Given the description of an element on the screen output the (x, y) to click on. 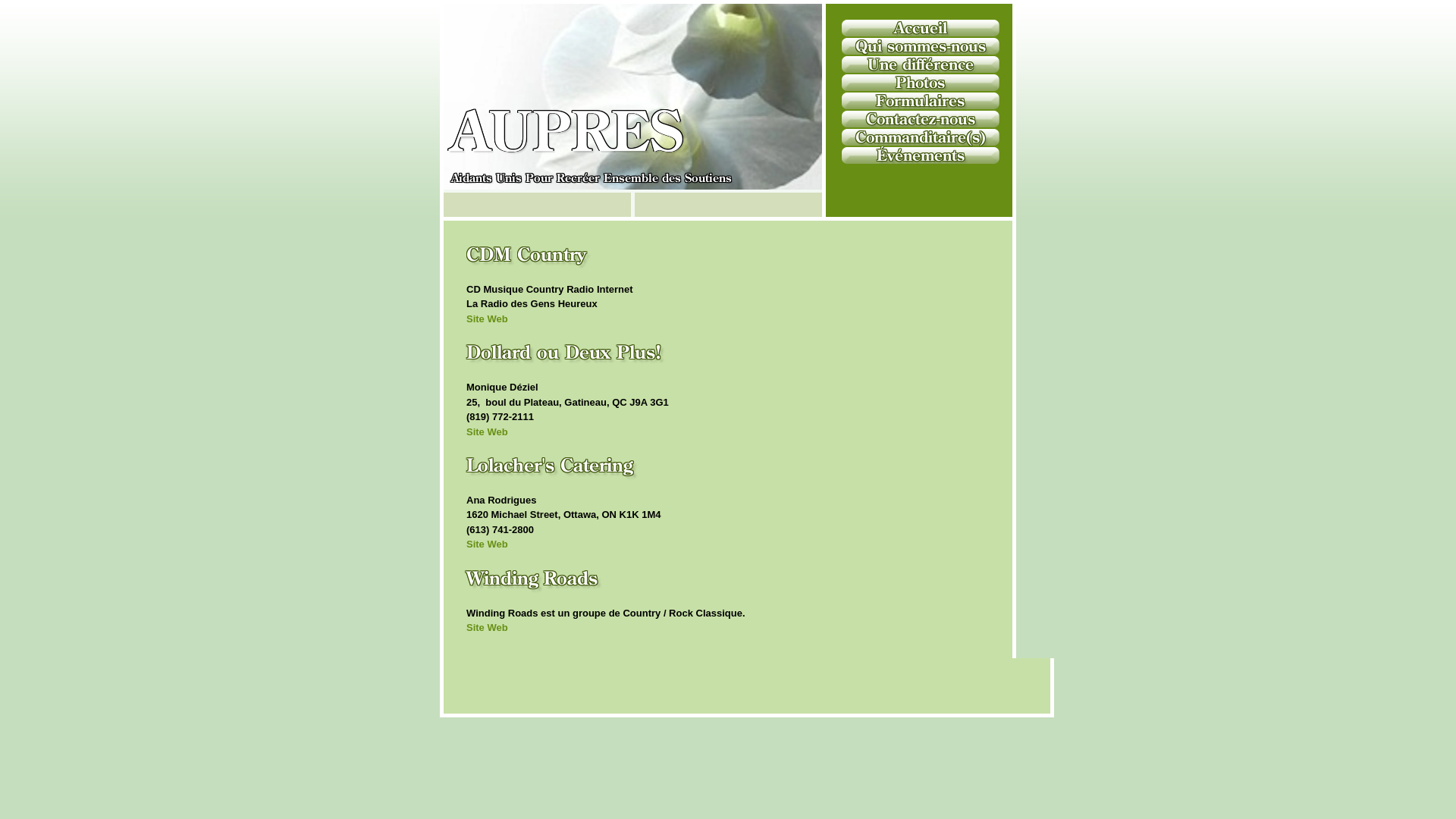
Qui sommes-nous Element type: text (919, 46)
Site Web Element type: text (487, 318)
Commanditaire(s) Element type: text (919, 137)
Site Web Element type: text (487, 431)
Photos Element type: text (919, 82)
AUPRES Element type: text (567, 143)
Accueil Element type: text (919, 27)
Site Web Element type: text (487, 543)
Site Web Element type: text (487, 627)
Formulaires Element type: text (919, 100)
Contactez-nous Element type: text (919, 118)
